Given the description of an element on the screen output the (x, y) to click on. 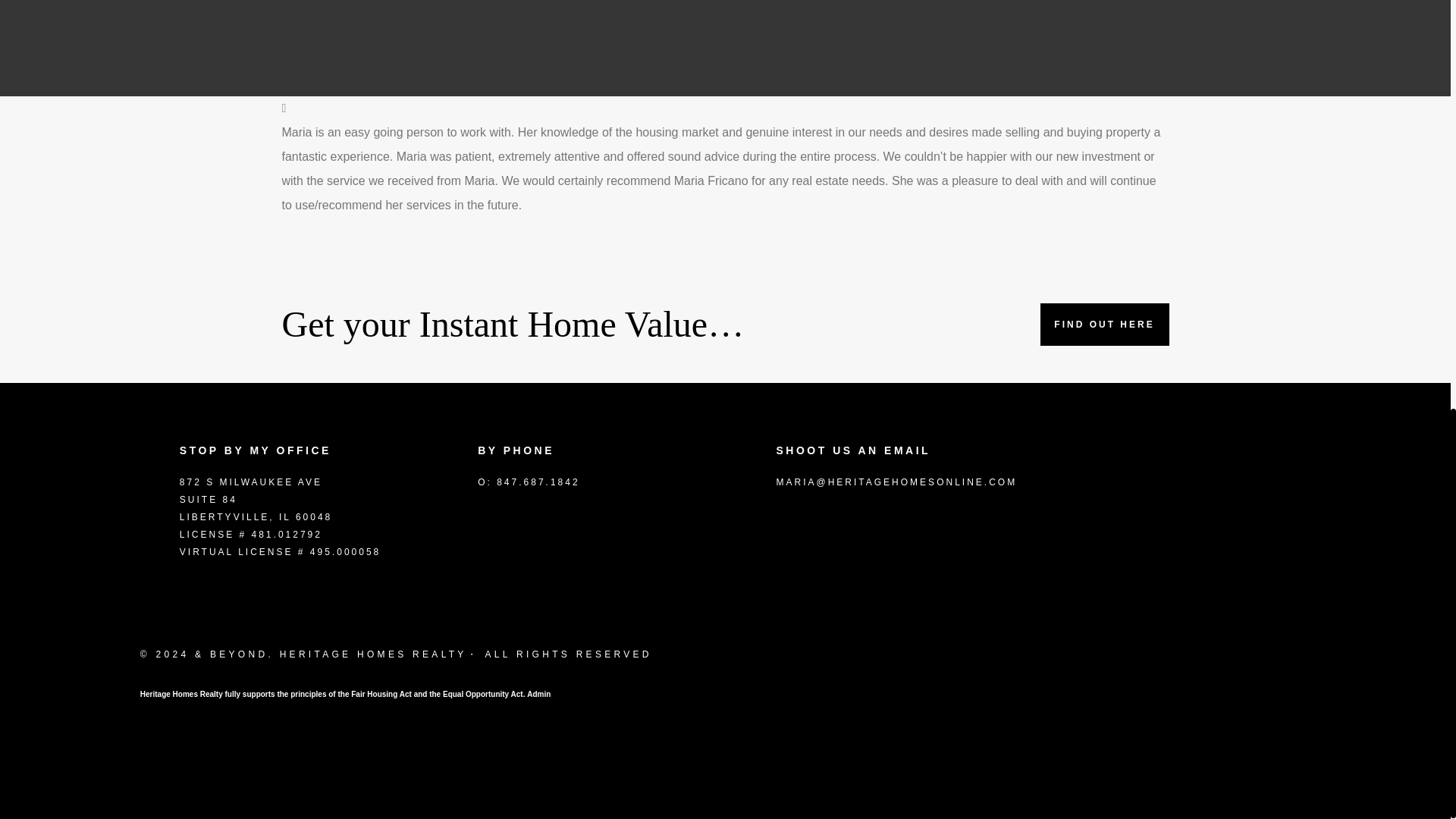
847.687.1842 (537, 481)
Admin (538, 694)
FIND OUT HERE (1105, 324)
